Given the description of an element on the screen output the (x, y) to click on. 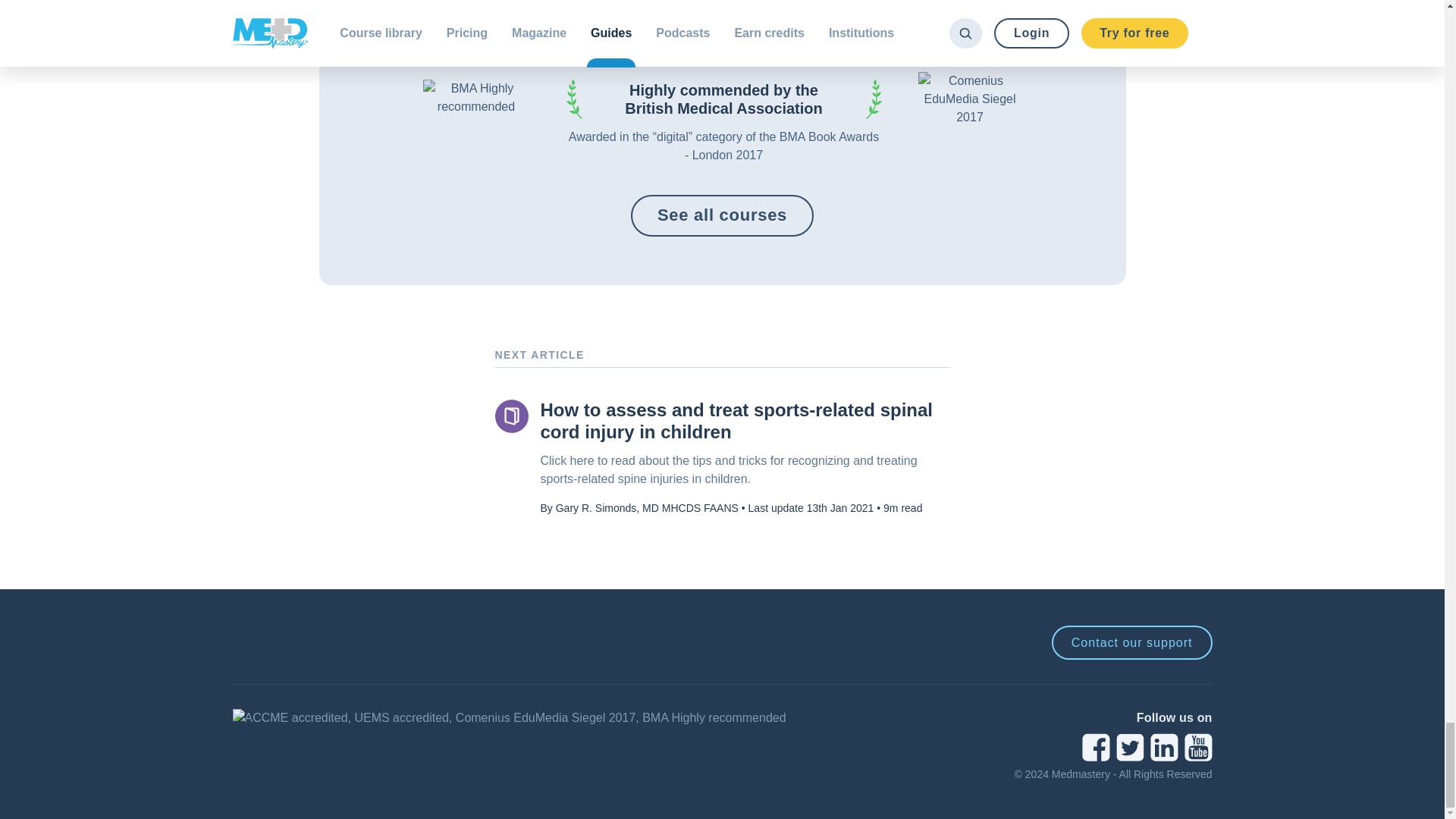
Contact our support (1131, 642)
Medmastery (274, 642)
See all courses (721, 215)
